Given the description of an element on the screen output the (x, y) to click on. 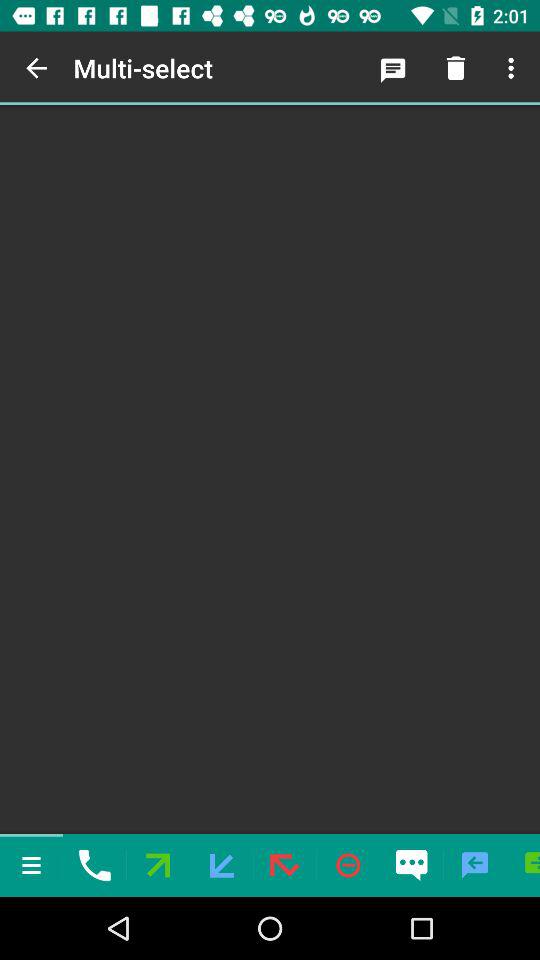
select item next to multi-select icon (36, 67)
